Given the description of an element on the screen output the (x, y) to click on. 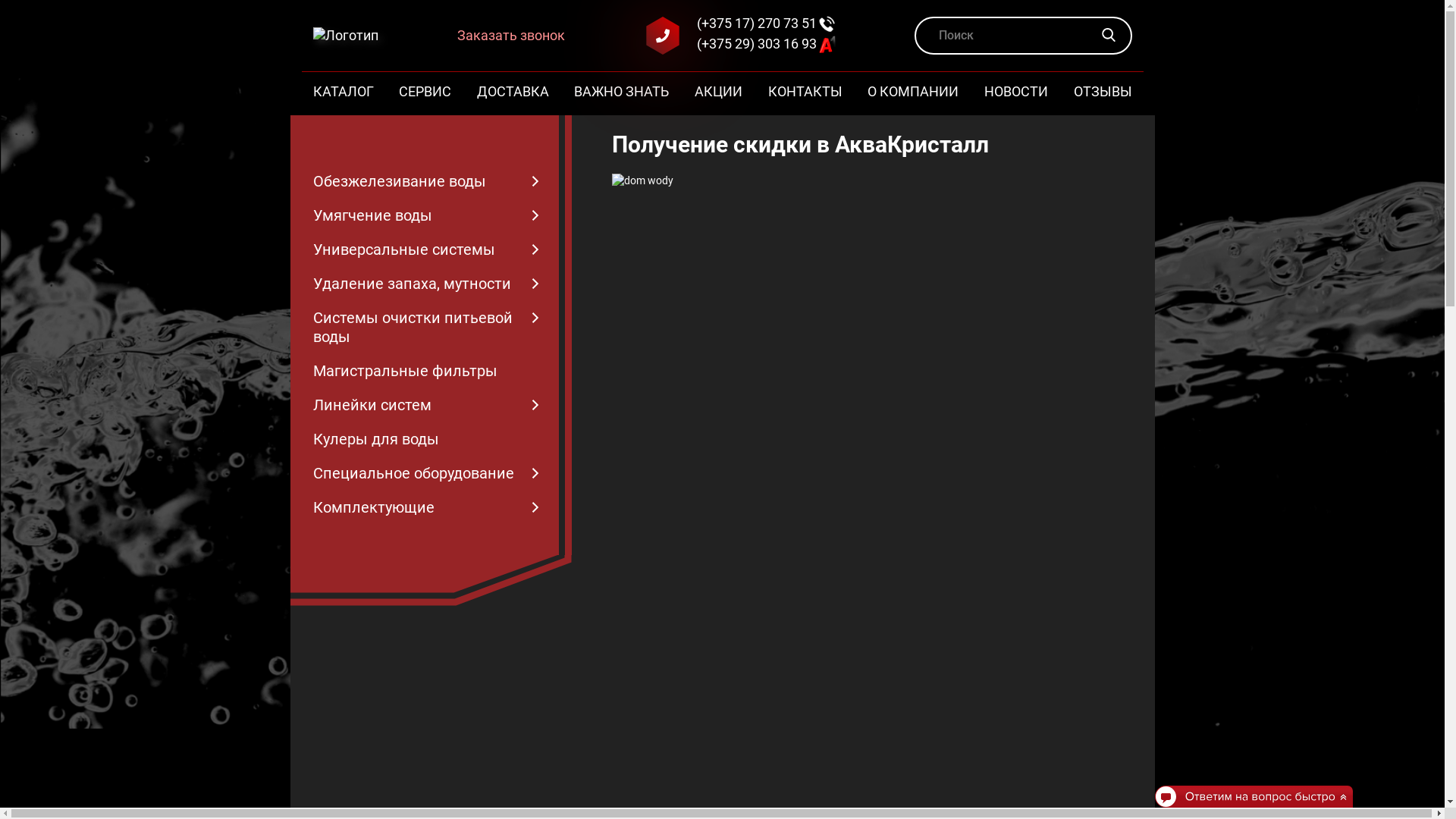
(+375 17) 270 73 51 Element type: text (765, 23)
(+375 29) 303 16 93 Element type: text (765, 44)
